Given the description of an element on the screen output the (x, y) to click on. 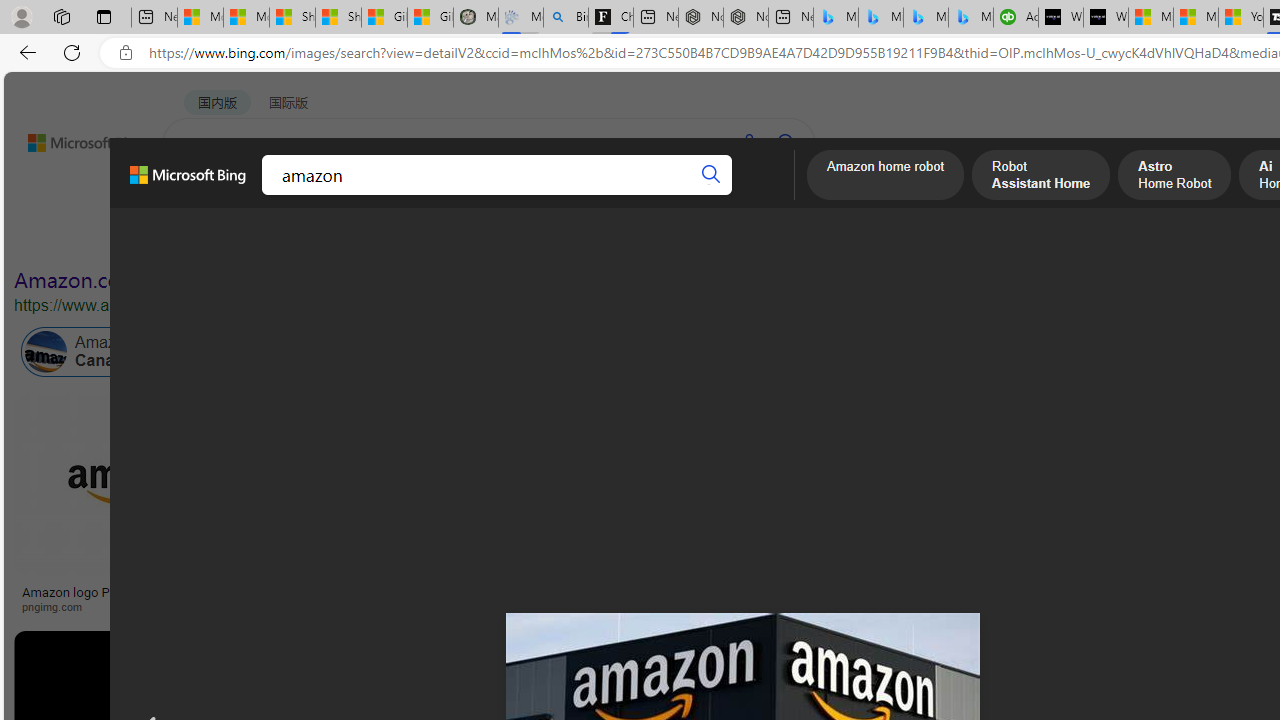
DICT (630, 195)
Tab actions menu (104, 16)
Listen: What's next for Amazon? (639, 592)
Amazon Prime Online (241, 351)
WEB (201, 195)
Accounting Software for Accountants, CPAs and Bookkeepers (1016, 17)
Nordace - #1 Japanese Best-Seller - Siena Smart Backpack (745, 17)
Microsoft Bing Travel - Stays in Bangkok, Bangkok, Thailand (880, 17)
Kindle Paperwhite Case (1183, 524)
Microsoft Start Sports (1150, 17)
Alexa Smart Home Devices (1183, 584)
Amazon.com. Spend less. Smile more. (195, 280)
Workspaces (61, 16)
